Given the description of an element on the screen output the (x, y) to click on. 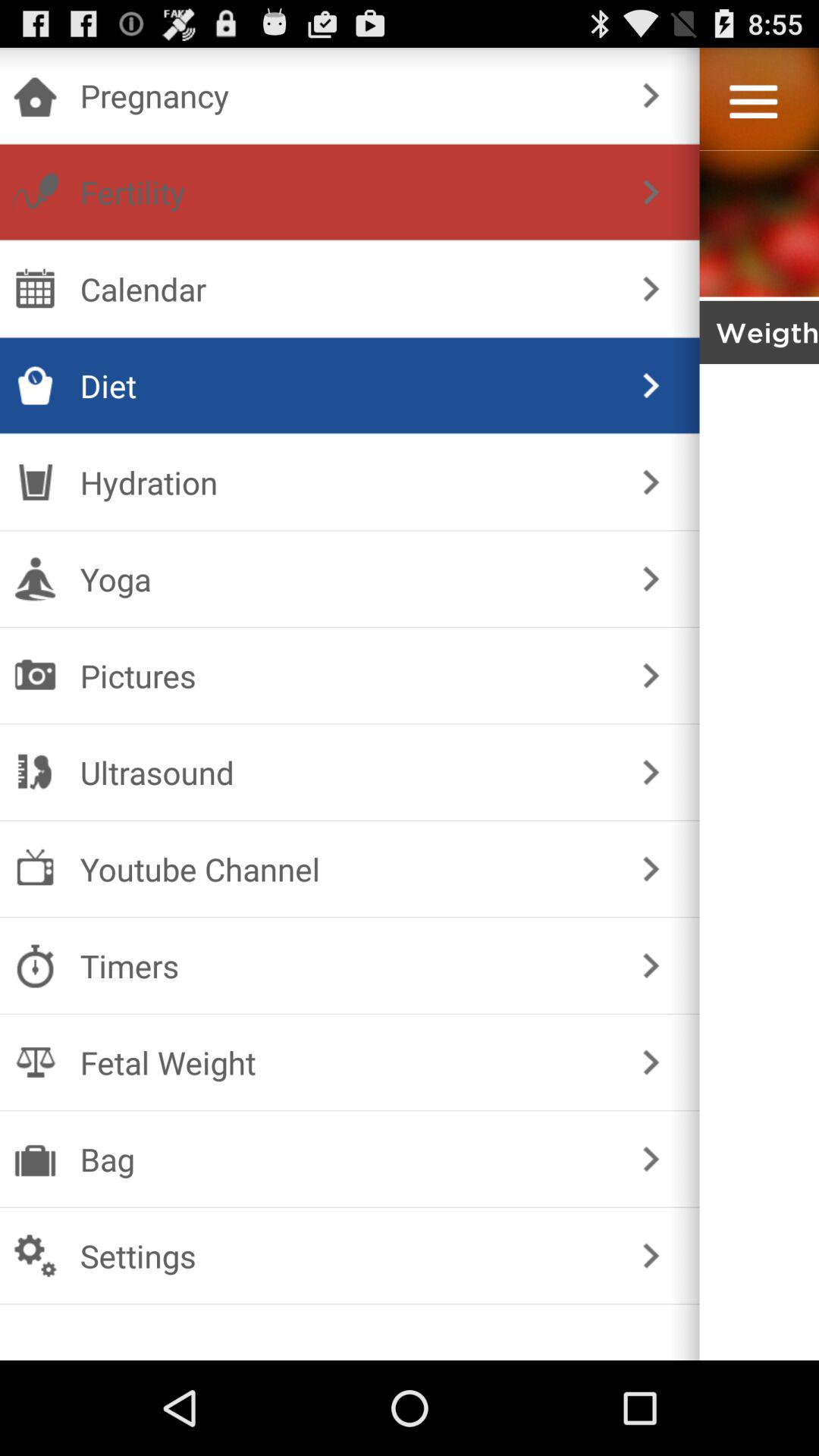
flip until the youtube channel item (346, 868)
